Given the description of an element on the screen output the (x, y) to click on. 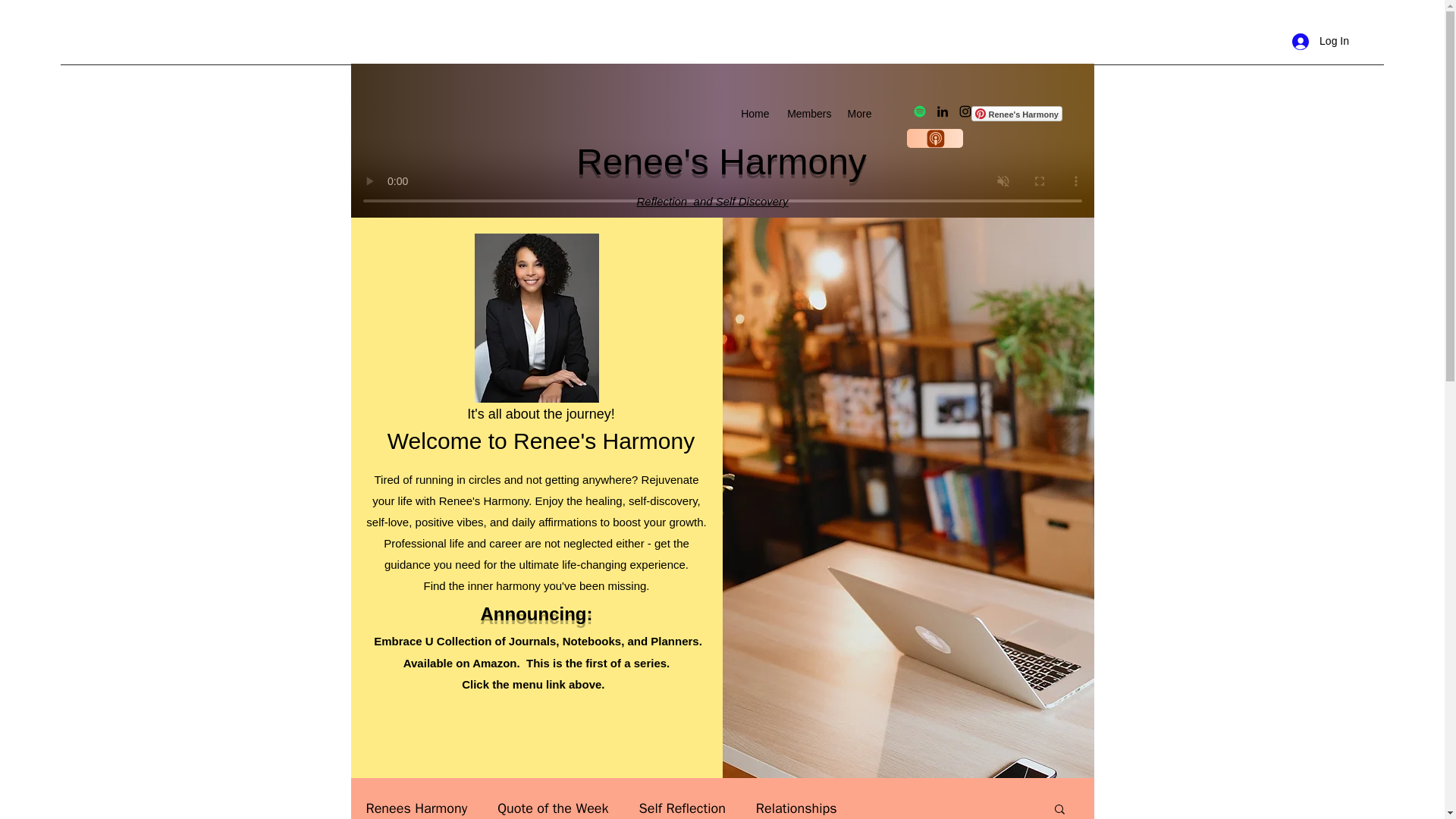
Home (754, 113)
Quote of the Week (552, 808)
Log In (1320, 41)
Renee's Harmony (1016, 113)
Relationships (796, 808)
Renees Harmony (416, 808)
Self Reflection (682, 808)
Reflection  and Self Discovery (713, 201)
Renee's Harmony (1016, 113)
Members (807, 113)
